Given the description of an element on the screen output the (x, y) to click on. 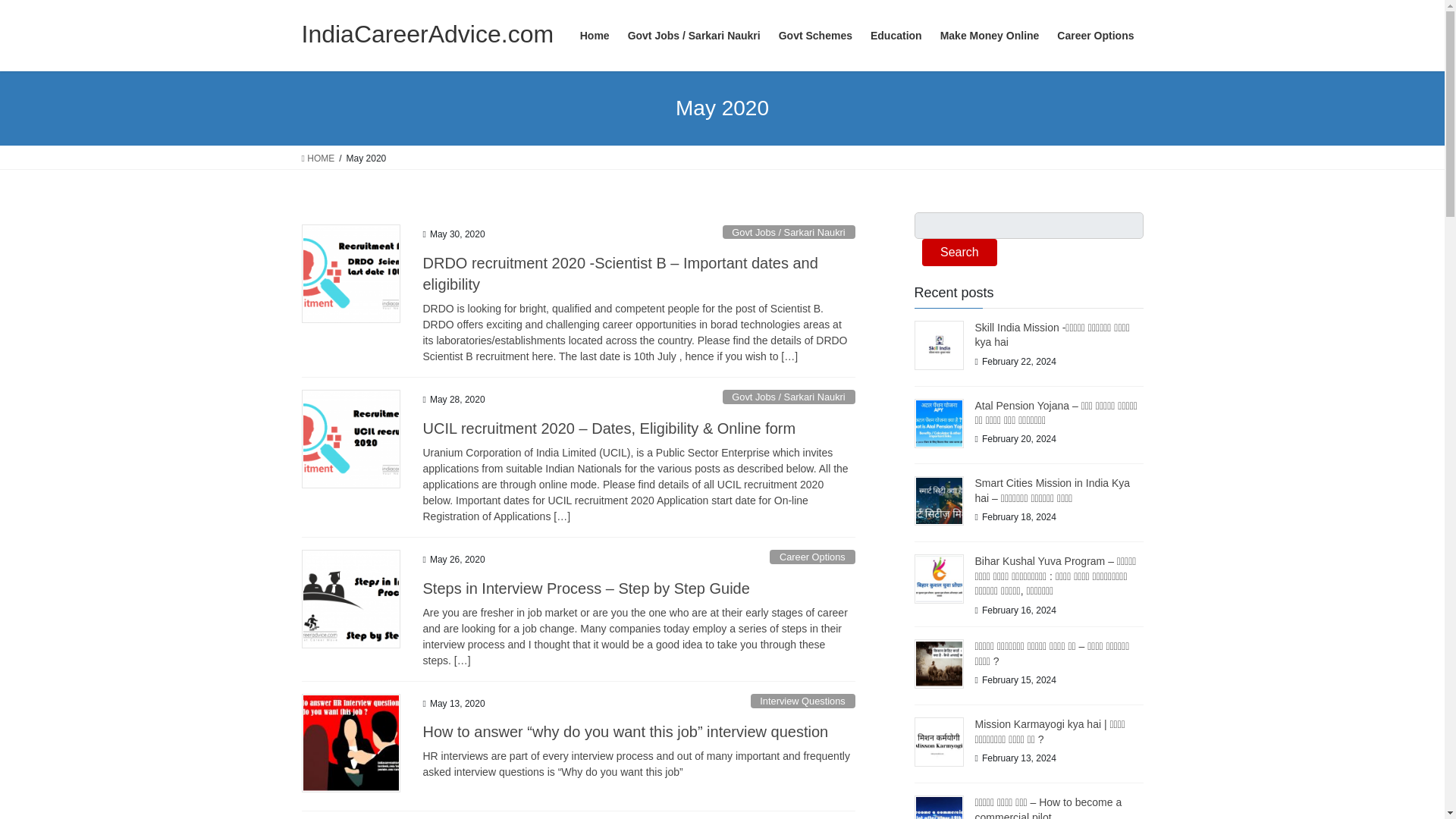
Education (896, 36)
Make Money Online (989, 36)
Career Options (1095, 36)
IndiaCareerAdvice.com (427, 33)
Govt Schemes (815, 36)
HOME (317, 157)
Home (594, 36)
